Given the description of an element on the screen output the (x, y) to click on. 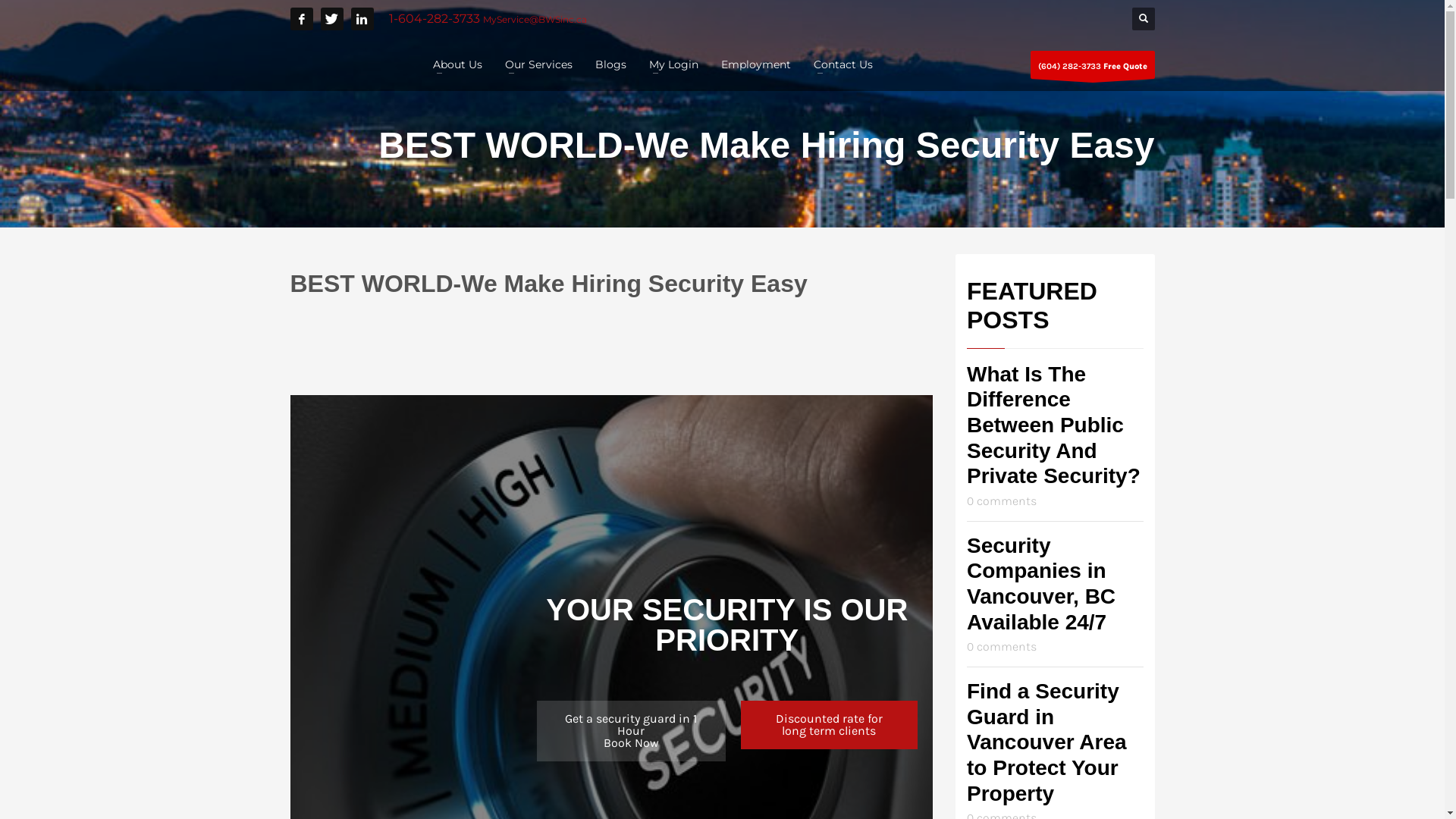
1-604-282-3733 Element type: text (435, 17)
Facebook Element type: hover (300, 18)
Security Companies in Vancouver, BC Available 24/7 Element type: text (1040, 583)
Contact Us Element type: text (842, 64)
Blogs Element type: text (609, 64)
Twitter Element type: hover (331, 18)
MyService@BWSinc.ca Element type: text (534, 19)
My Login Element type: text (673, 64)
About Us Element type: text (456, 64)
LinkedIn Element type: hover (361, 18)
Employment Element type: text (755, 64)
Discounted rate for long term clients Element type: text (828, 724)
Our Services Element type: text (538, 64)
Get a security guard in 1 Hour
Book Now Element type: text (630, 730)
(604) 282-3733 Free Quote Element type: text (1091, 64)
